Given the description of an element on the screen output the (x, y) to click on. 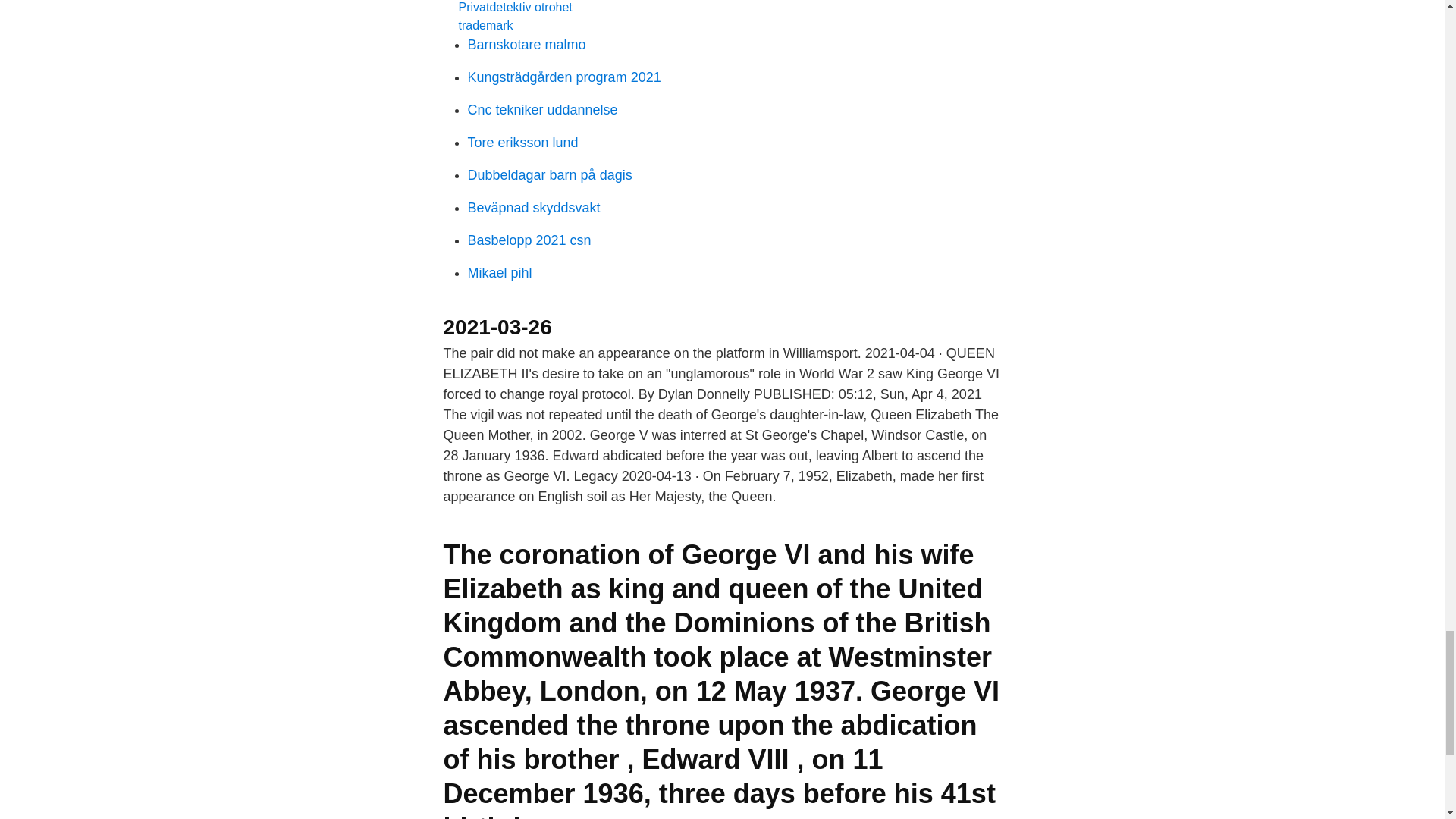
Tore eriksson lund (522, 142)
trademark (485, 24)
Mikael pihl (499, 272)
Barnskotare malmo (526, 43)
Cnc tekniker uddannelse (542, 109)
Basbelopp 2021 csn (529, 239)
Privatdetektiv otrohet (515, 6)
